Given the description of an element on the screen output the (x, y) to click on. 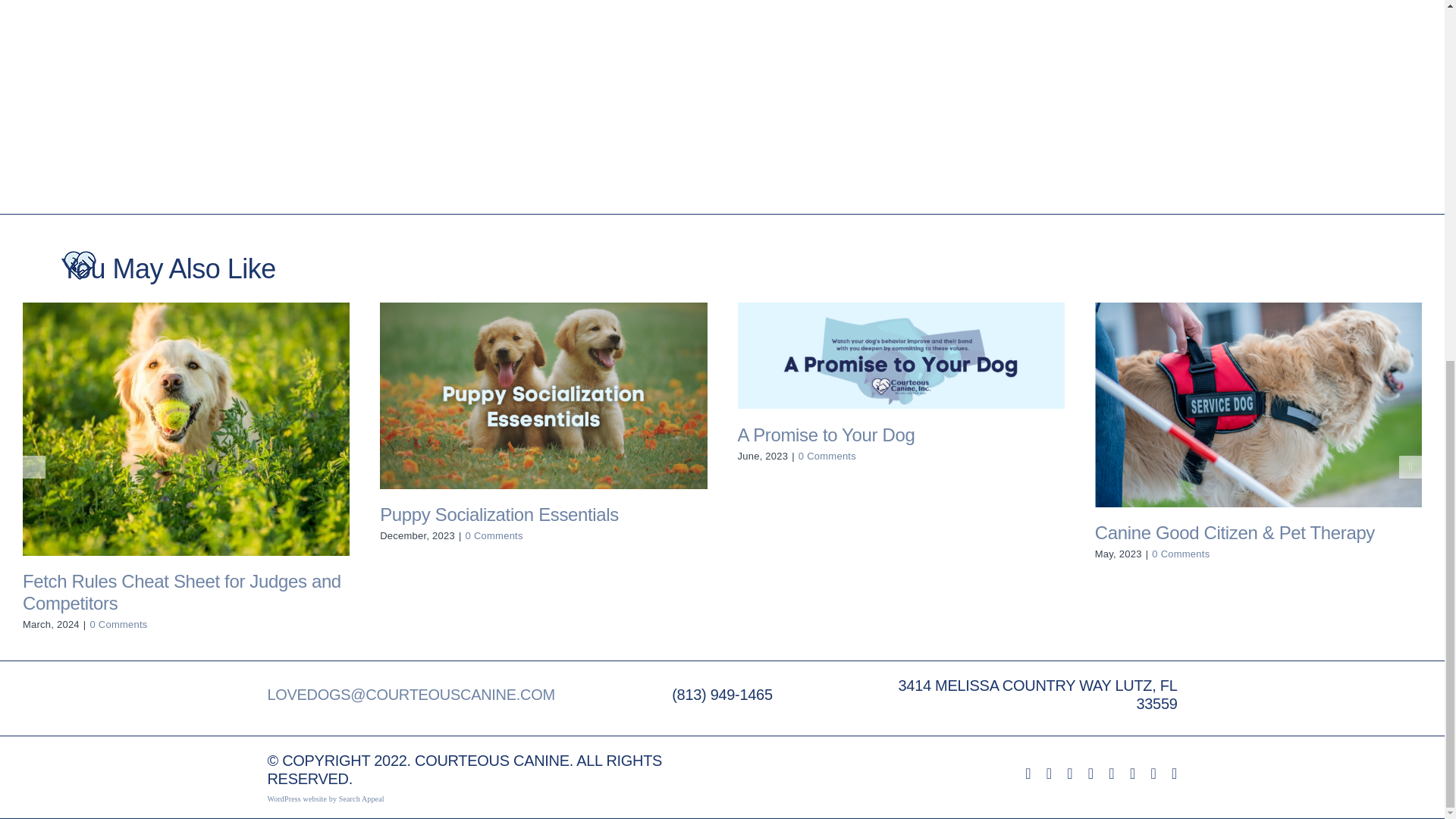
A Promise to Your Dog (825, 435)
Fetch Rules Cheat Sheet for Judges and Competitors (181, 591)
Puppy Socialization Essentials (499, 514)
